Given the description of an element on the screen output the (x, y) to click on. 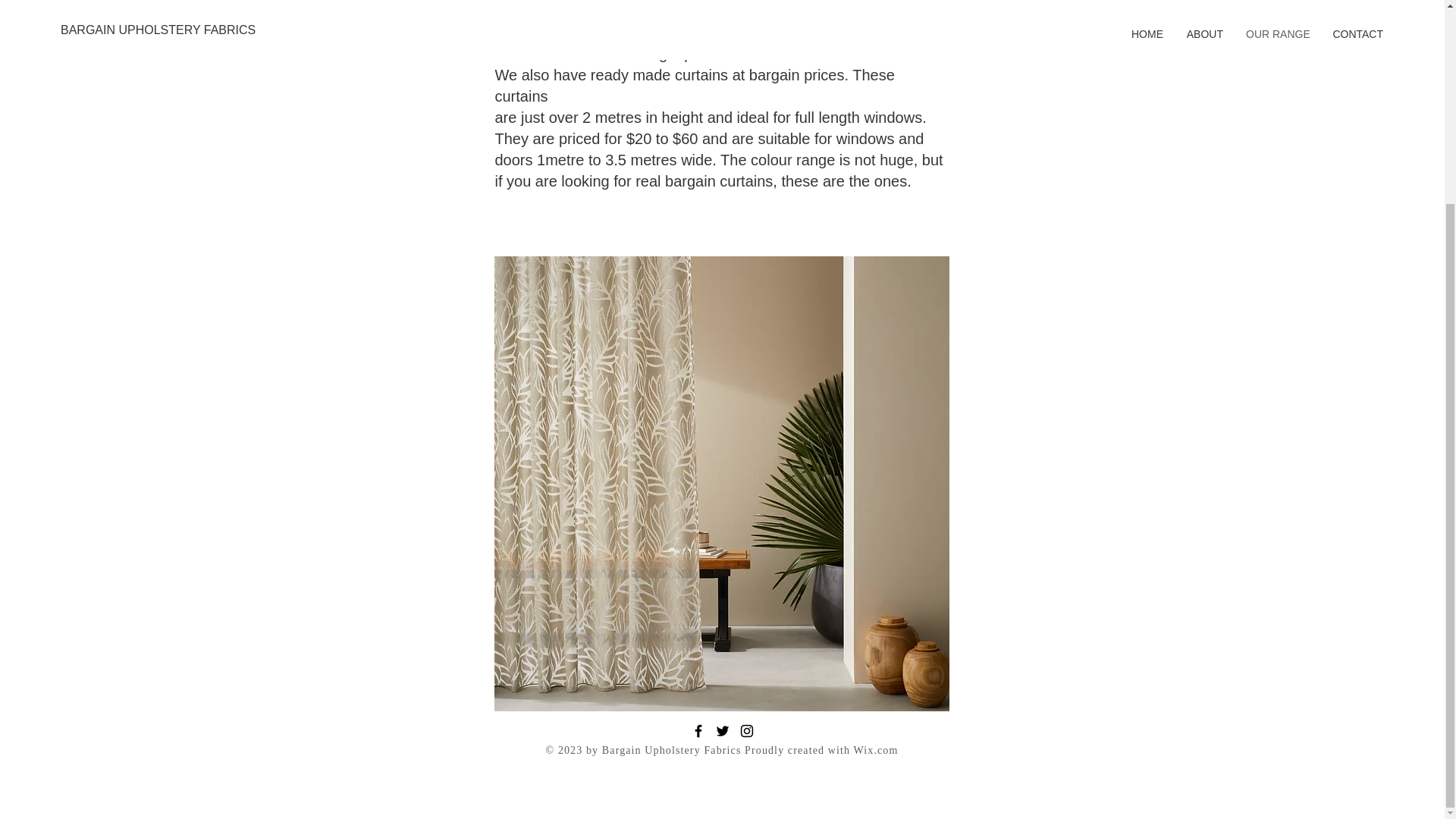
Wix.com (875, 489)
